Given the description of an element on the screen output the (x, y) to click on. 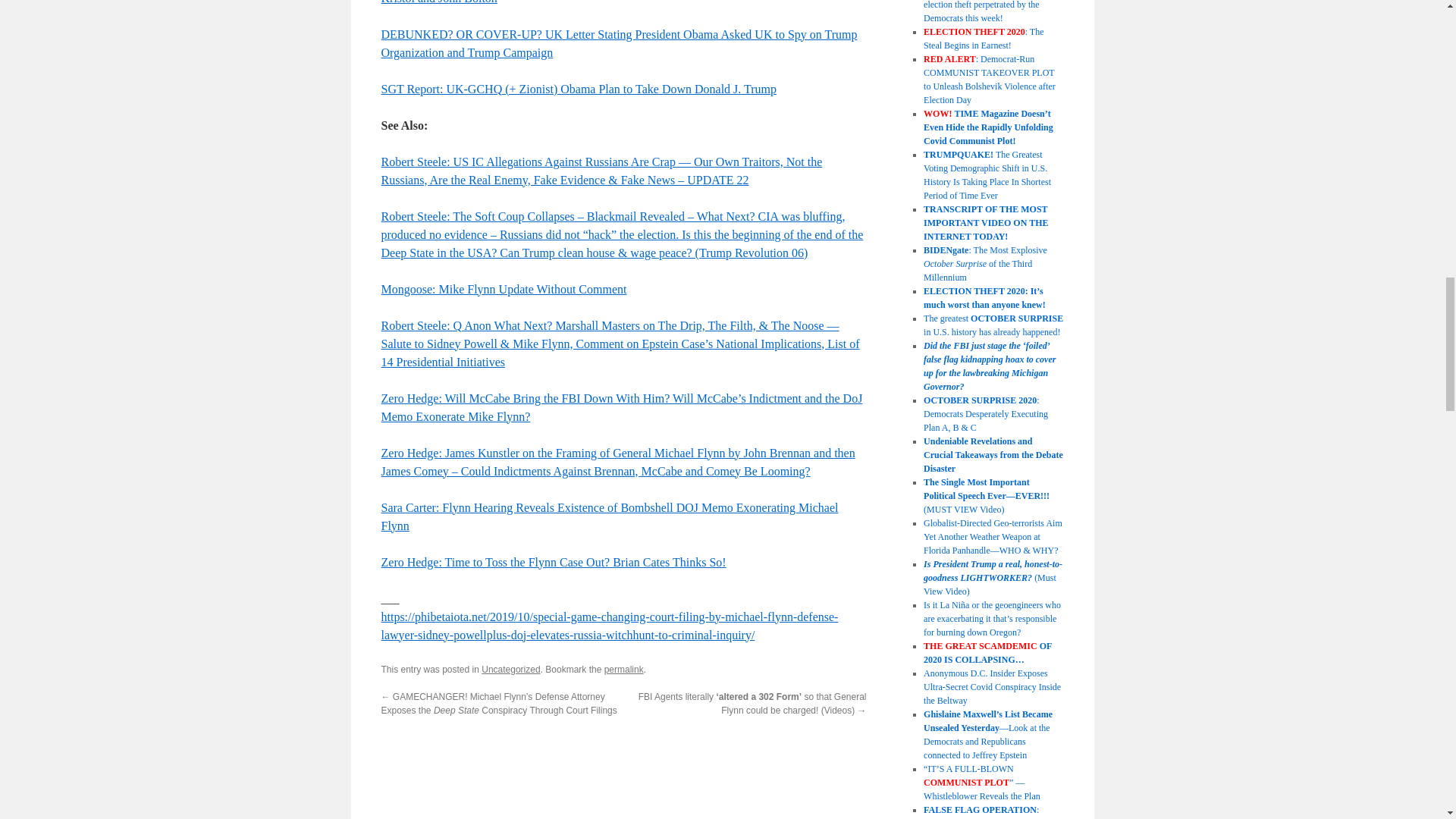
Mongoose: Mike Flynn Update Without Comment (503, 288)
